Given the description of an element on the screen output the (x, y) to click on. 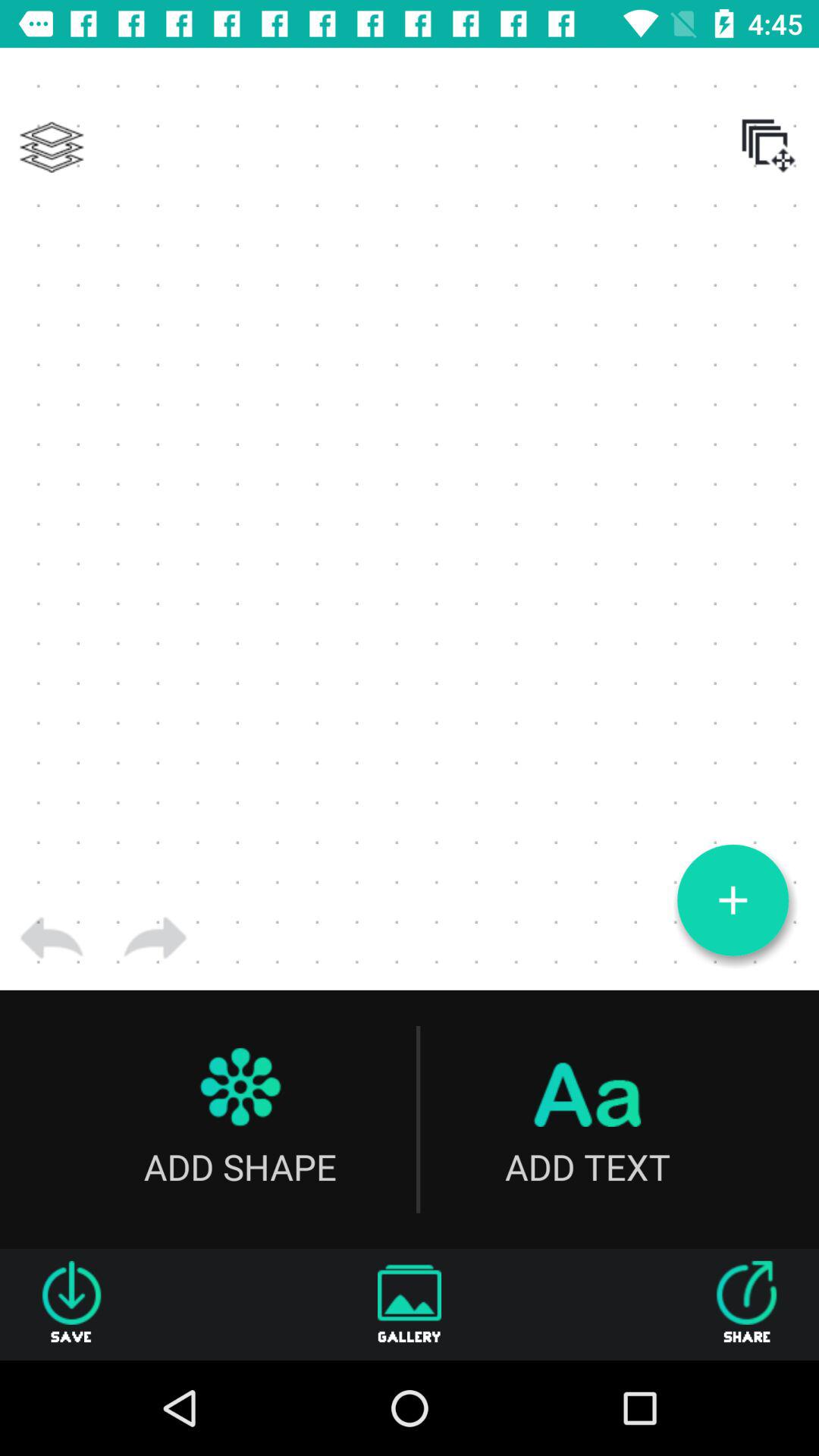
launch the item at the top left corner (51, 147)
